Given the description of an element on the screen output the (x, y) to click on. 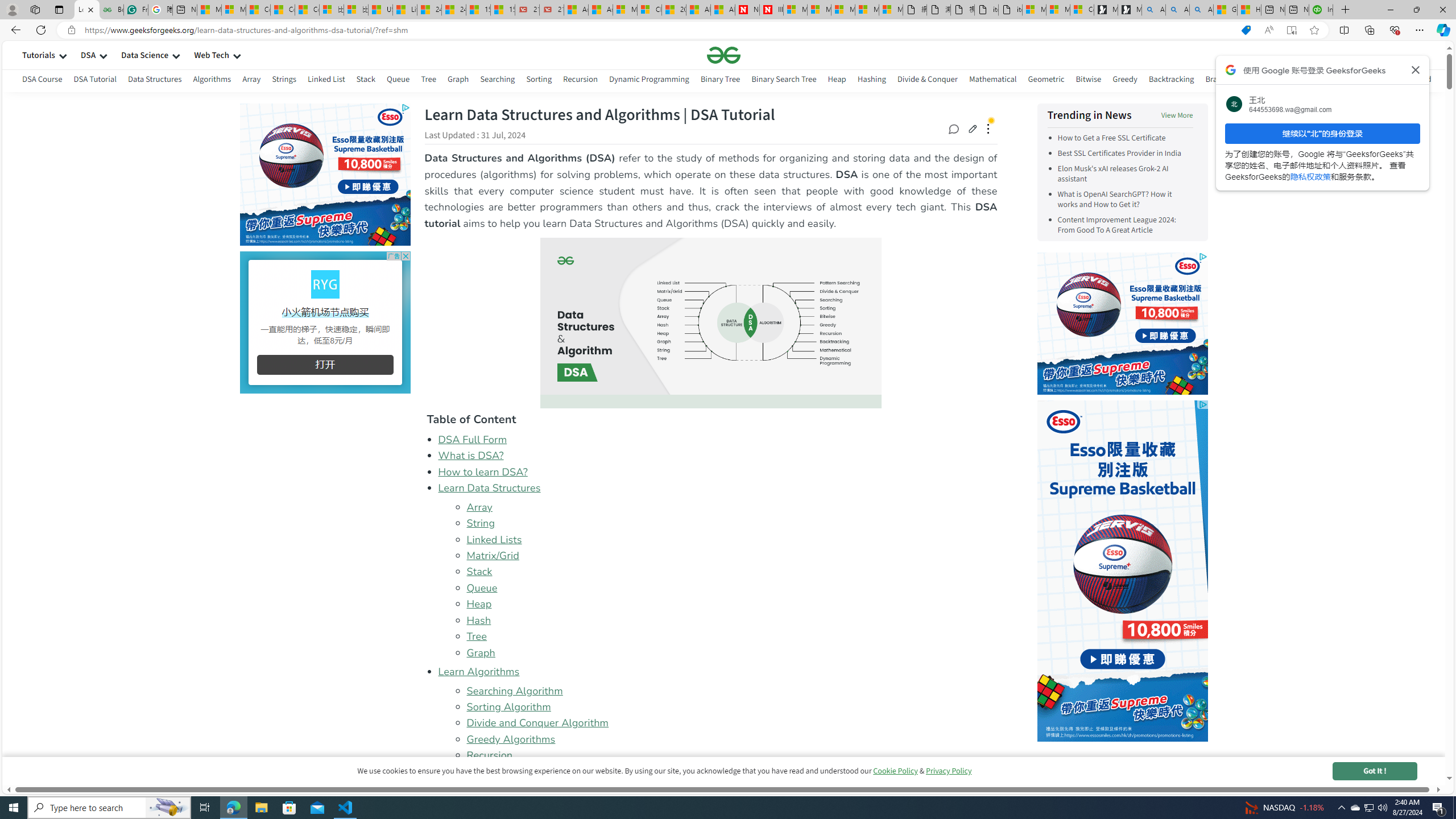
Sorting Algorithm (508, 706)
Lightbox (723, 413)
What is OpenAI SearchGPT? How it works and How to Get it? (1114, 199)
Searching (497, 79)
Queue (731, 587)
USA TODAY - MSN (380, 9)
Dynamic Programming (731, 787)
Searching (497, 80)
Algorithms (212, 79)
Got It ! (1374, 771)
Binary Search Tree (783, 80)
How to Use a TV as a Computer Monitor (1248, 9)
